Given the description of an element on the screen output the (x, y) to click on. 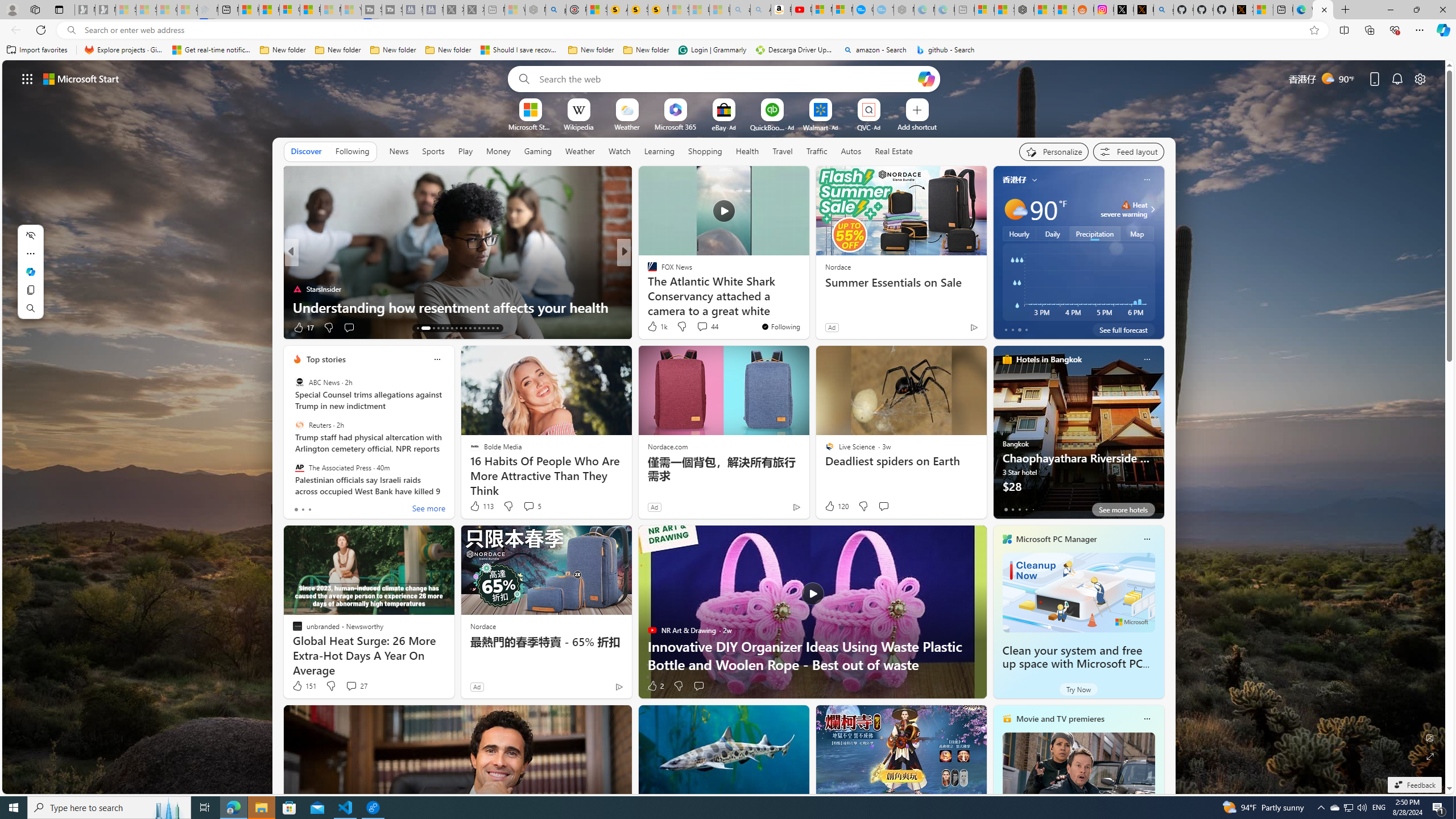
Men Share The 14 Unspoken Rules for Successful Marriage (807, 298)
Traffic (816, 151)
You're following The Weather Channel (949, 329)
Mini menu on text selection (30, 271)
USA TODAY (647, 270)
AutomationID: tab-22 (465, 328)
AutomationID: tab-15 (429, 328)
Daily (1052, 233)
Precipitation (1094, 233)
App launcher (27, 78)
AutomationID: tab-19 (451, 328)
Add a site (916, 126)
AutomationID: tab-24 (474, 328)
